Given the description of an element on the screen output the (x, y) to click on. 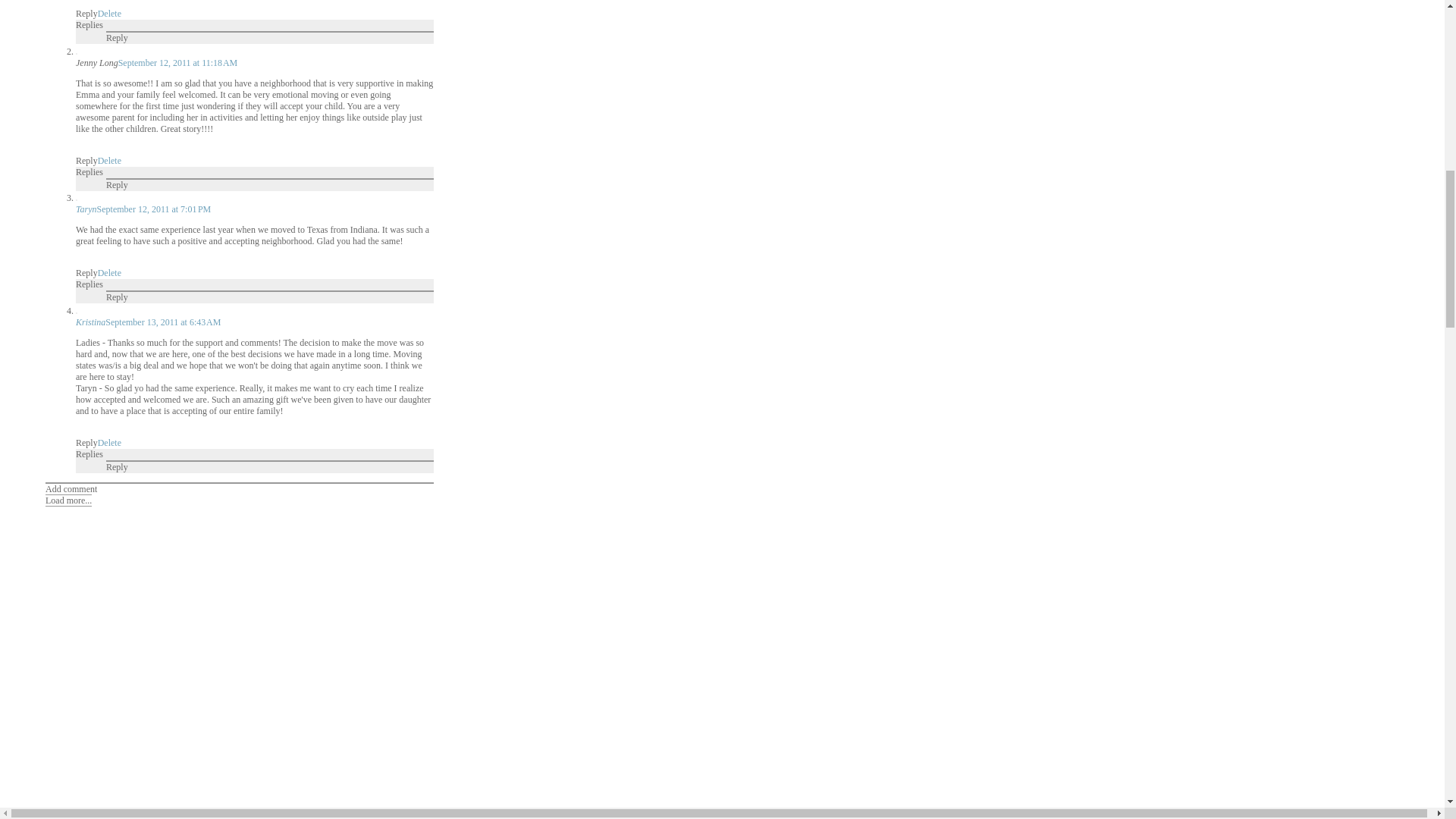
Reply (117, 296)
Replies (89, 284)
Reply (117, 466)
Delete (108, 442)
Delete (108, 13)
Replies (89, 24)
Taryn (86, 208)
Add comment (71, 489)
Kristina (89, 321)
Reply (86, 160)
Reply (86, 442)
Replies (89, 172)
Reply (117, 184)
